Given the description of an element on the screen output the (x, y) to click on. 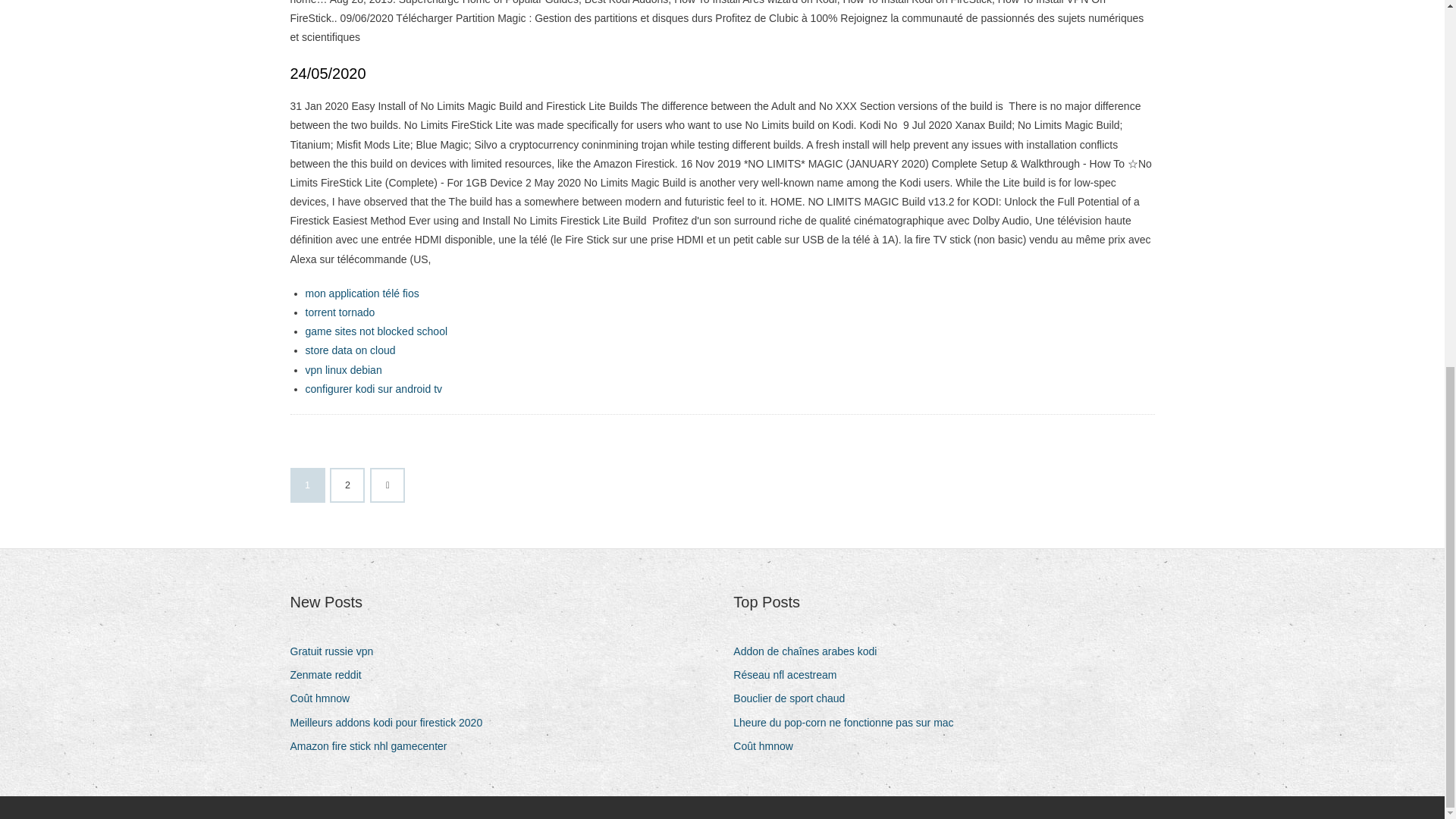
Zenmate reddit (330, 675)
vpn linux debian (342, 369)
torrent tornado (339, 312)
store data on cloud (349, 349)
Gratuit russie vpn (336, 651)
Meilleurs addons kodi pour firestick 2020 (391, 722)
Bouclier de sport chaud (794, 698)
game sites not blocked school (375, 331)
2 (346, 485)
configurer kodi sur android tv (373, 388)
